Given the description of an element on the screen output the (x, y) to click on. 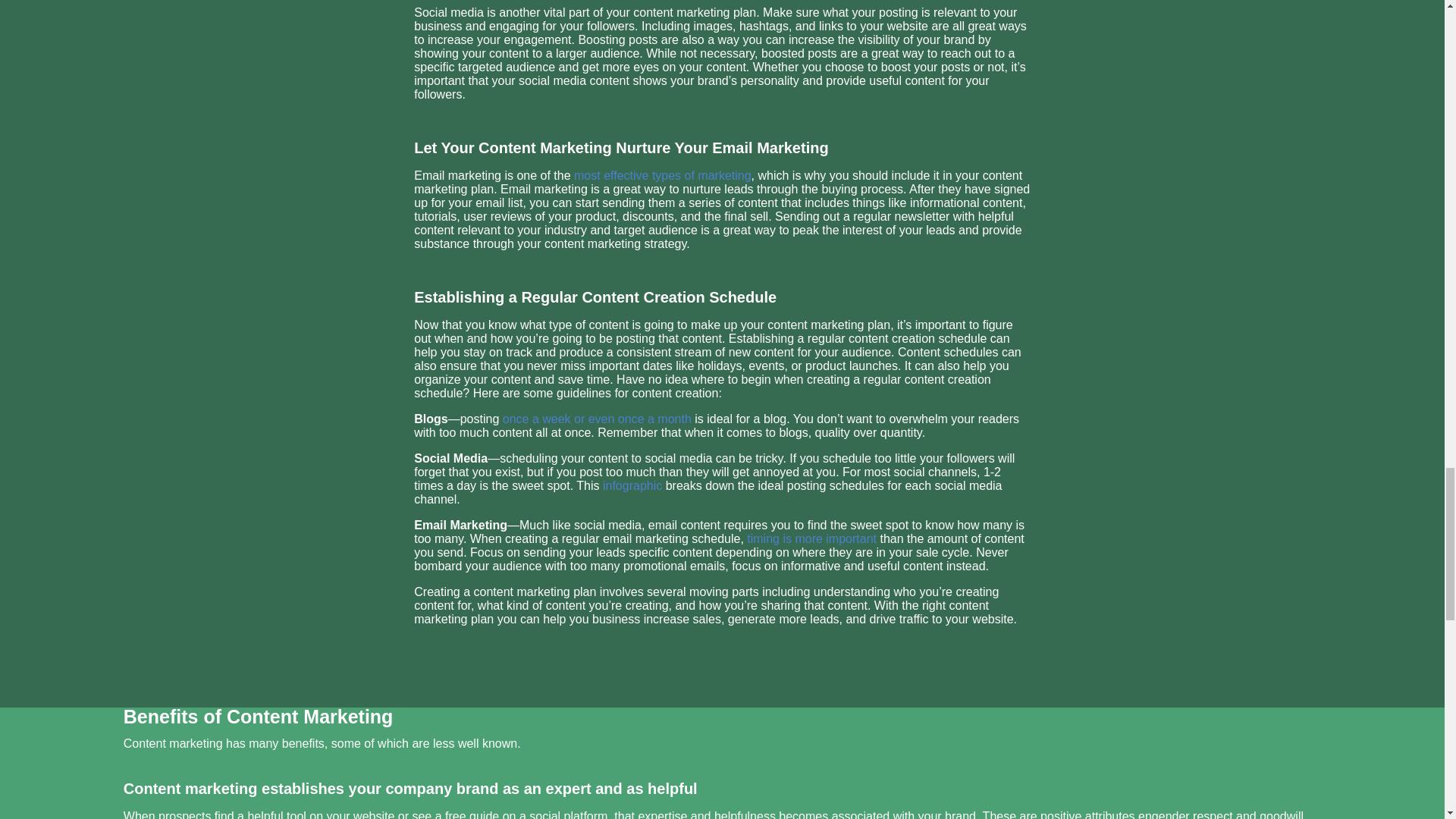
once a week or even once a month (596, 418)
most effective types of marketing (662, 174)
timing is more important (811, 538)
infographic (632, 485)
